Given the description of an element on the screen output the (x, y) to click on. 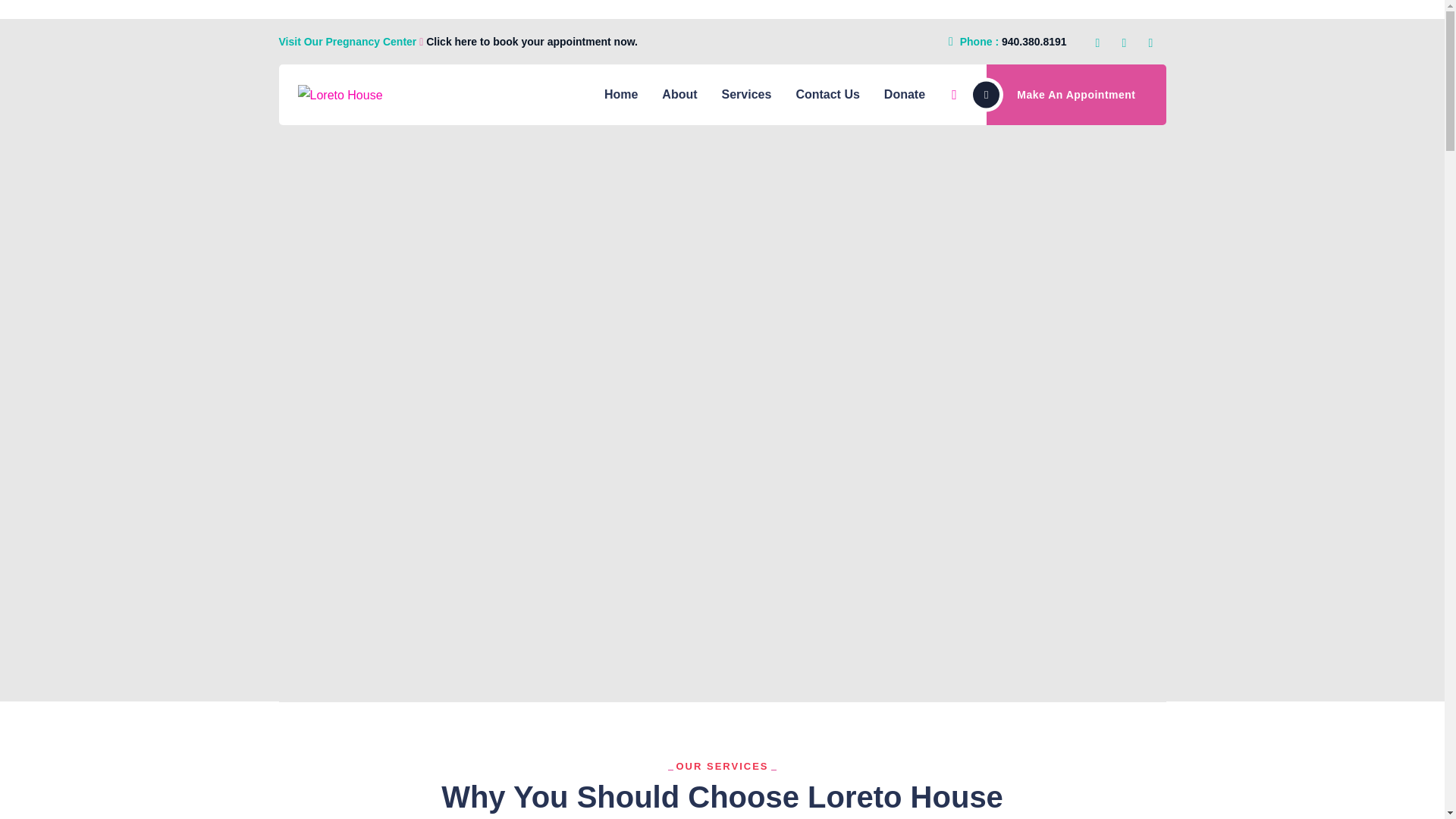
Loreto House (339, 95)
Contact Us (826, 94)
Click here to book your appointment now. (530, 41)
940.380.8191 (1034, 41)
Make An Appointment (1076, 94)
